Given the description of an element on the screen output the (x, y) to click on. 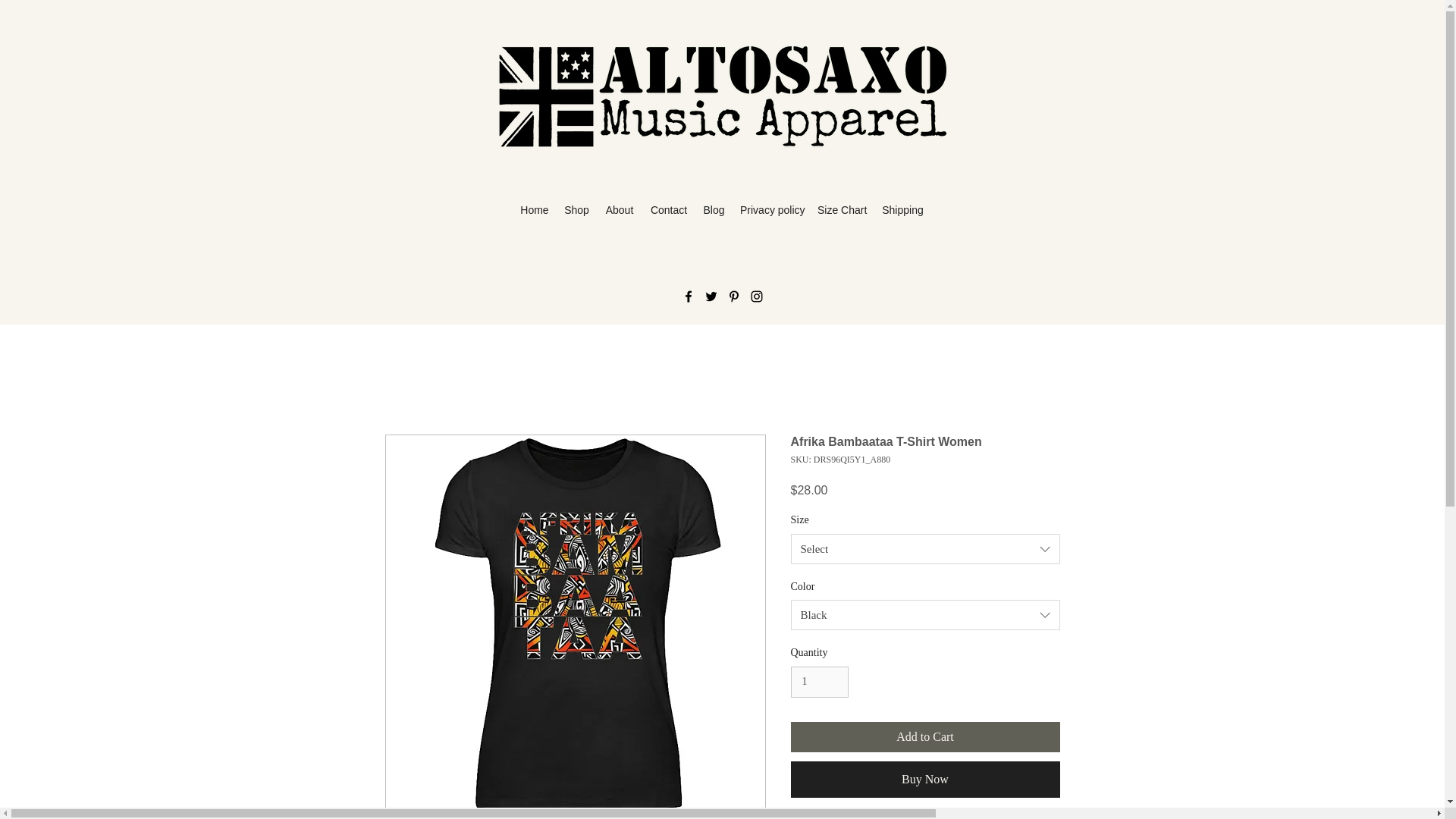
Shipping (902, 210)
Size Chart (841, 210)
Privacy policy (770, 210)
Buy Now (924, 779)
1 (818, 681)
Add to Cart (924, 736)
Contact (668, 210)
Black (924, 614)
About (619, 210)
altosaxo LOGO PNG 1900.png (722, 96)
